Given the description of an element on the screen output the (x, y) to click on. 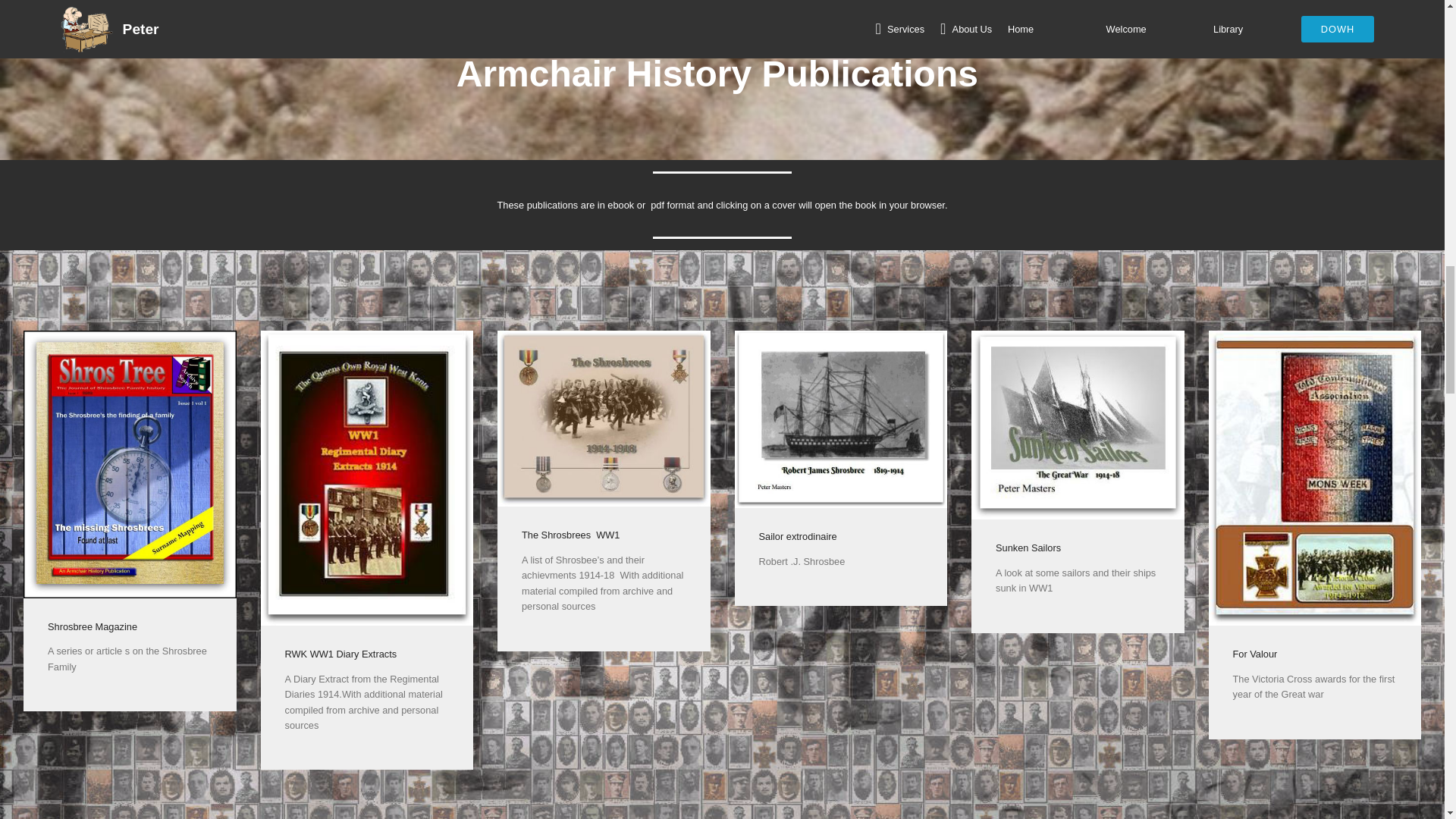
Shros Magazine (129, 464)
Fighting Shros (603, 418)
Sunken Sailors WW1 (1078, 424)
RWK War Diary (367, 477)
For Valour V.C WW1 (1315, 477)
